Given the description of an element on the screen output the (x, y) to click on. 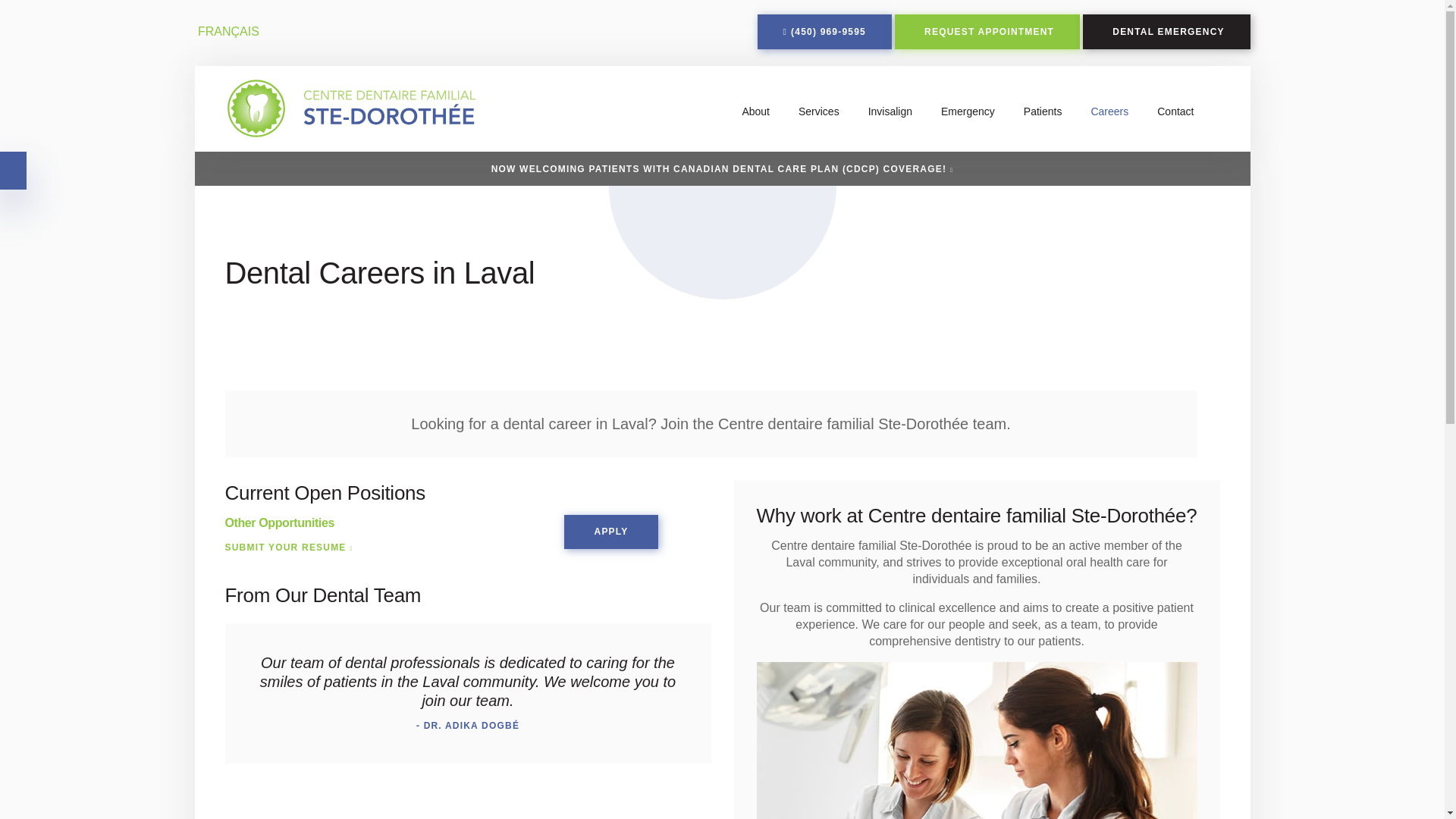
DENTAL EMERGENCY (1166, 31)
About (755, 111)
REQUEST APPOINTMENT (987, 31)
